Given the description of an element on the screen output the (x, y) to click on. 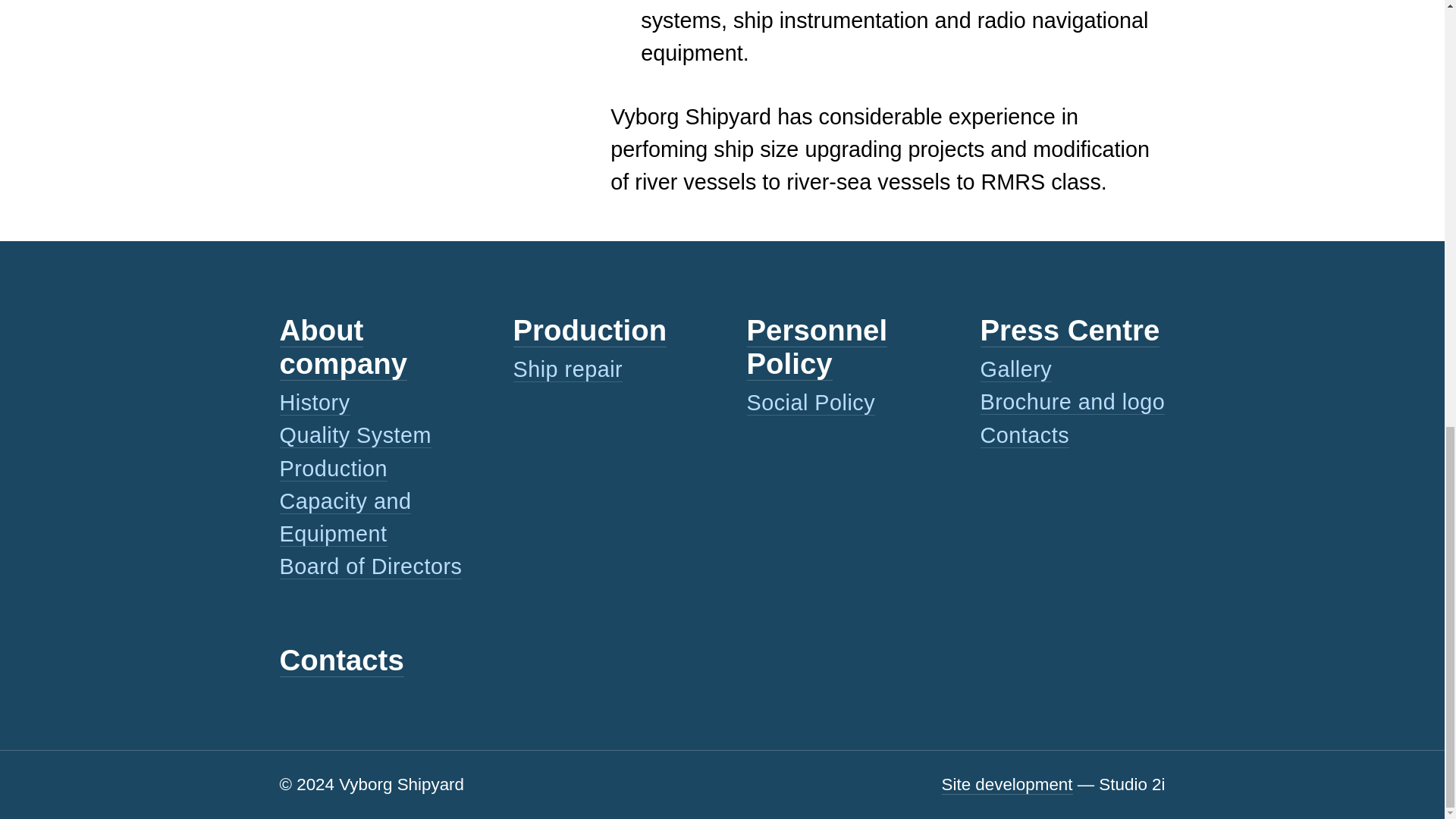
Ship repair (567, 369)
Quality System (354, 435)
Brochure and logo (1071, 401)
Gallery (1015, 369)
Personnel Policy (815, 346)
Social Policy (810, 402)
Production (589, 330)
History (314, 402)
Contacts (1023, 435)
Contacts (341, 660)
Site development (1007, 784)
Board of Directors (370, 566)
Production Capacity and Equipment (344, 501)
Press Centre (1068, 330)
About company (343, 346)
